Given the description of an element on the screen output the (x, y) to click on. 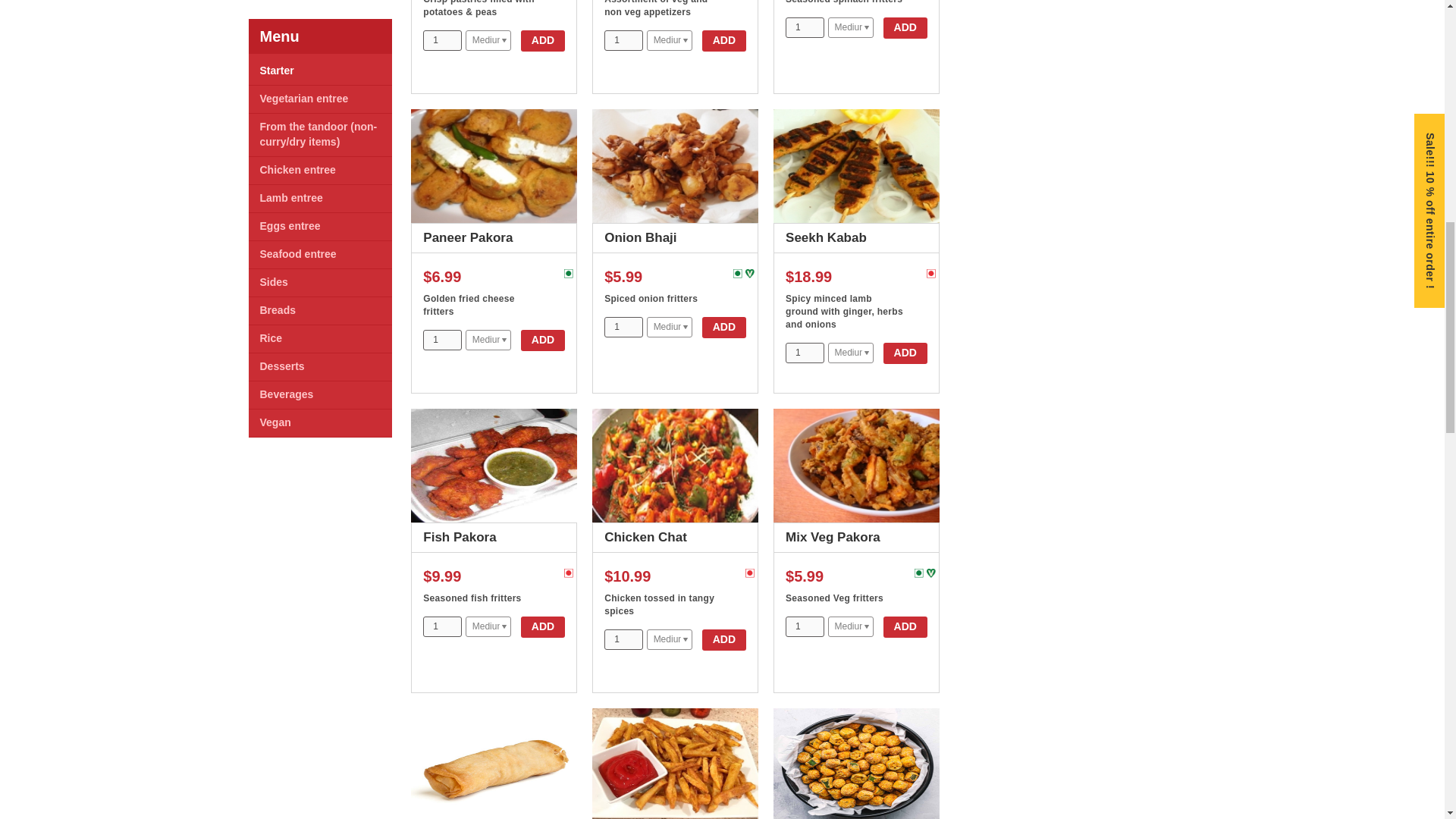
Desserts (281, 56)
1 (623, 326)
Vegan (274, 112)
1 (442, 340)
1 (623, 40)
Rice (270, 28)
1 (623, 639)
Beverages (286, 84)
Breads (277, 3)
1 (805, 27)
